Given the description of an element on the screen output the (x, y) to click on. 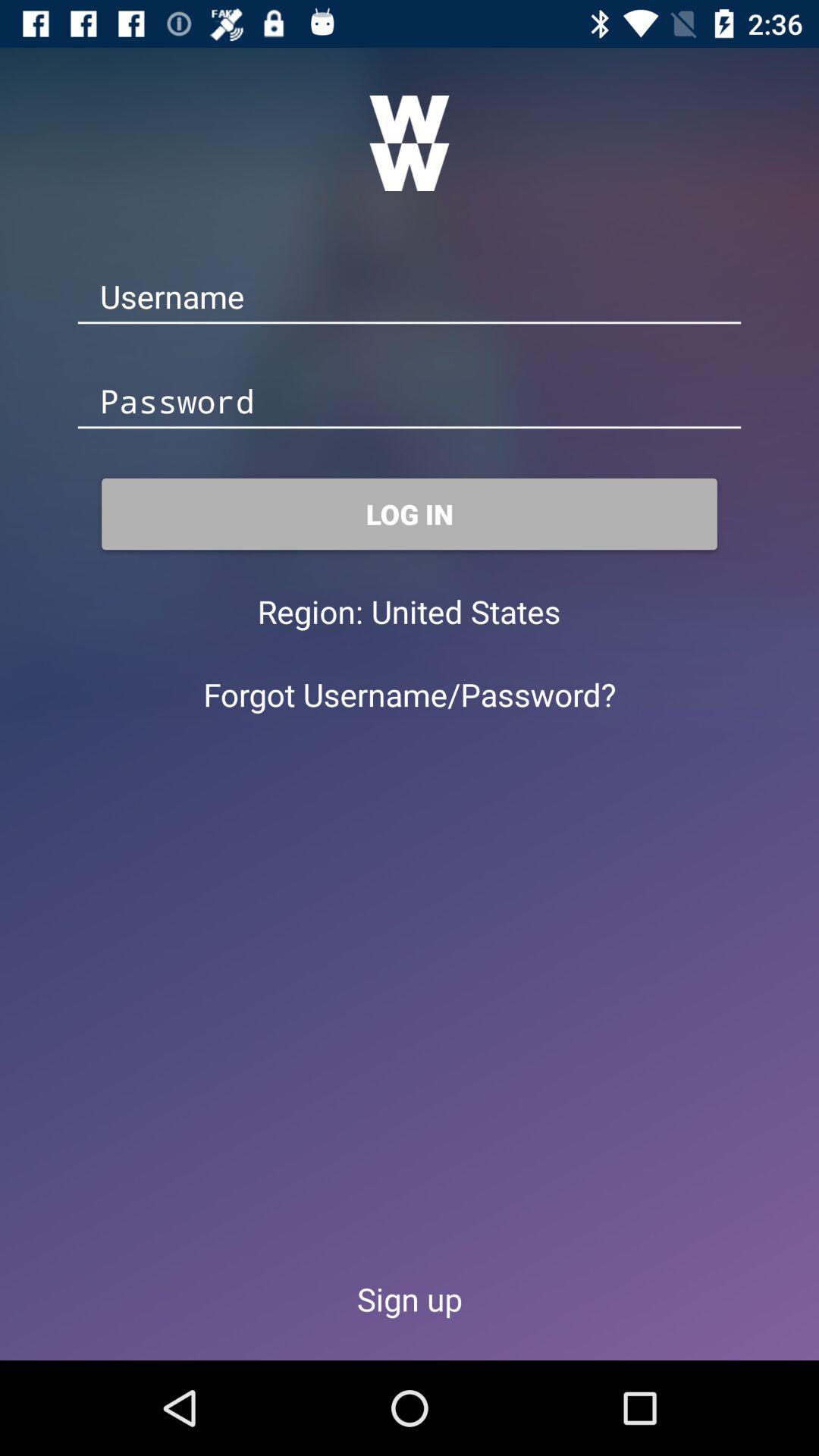
swipe until the sign up item (409, 1298)
